Given the description of an element on the screen output the (x, y) to click on. 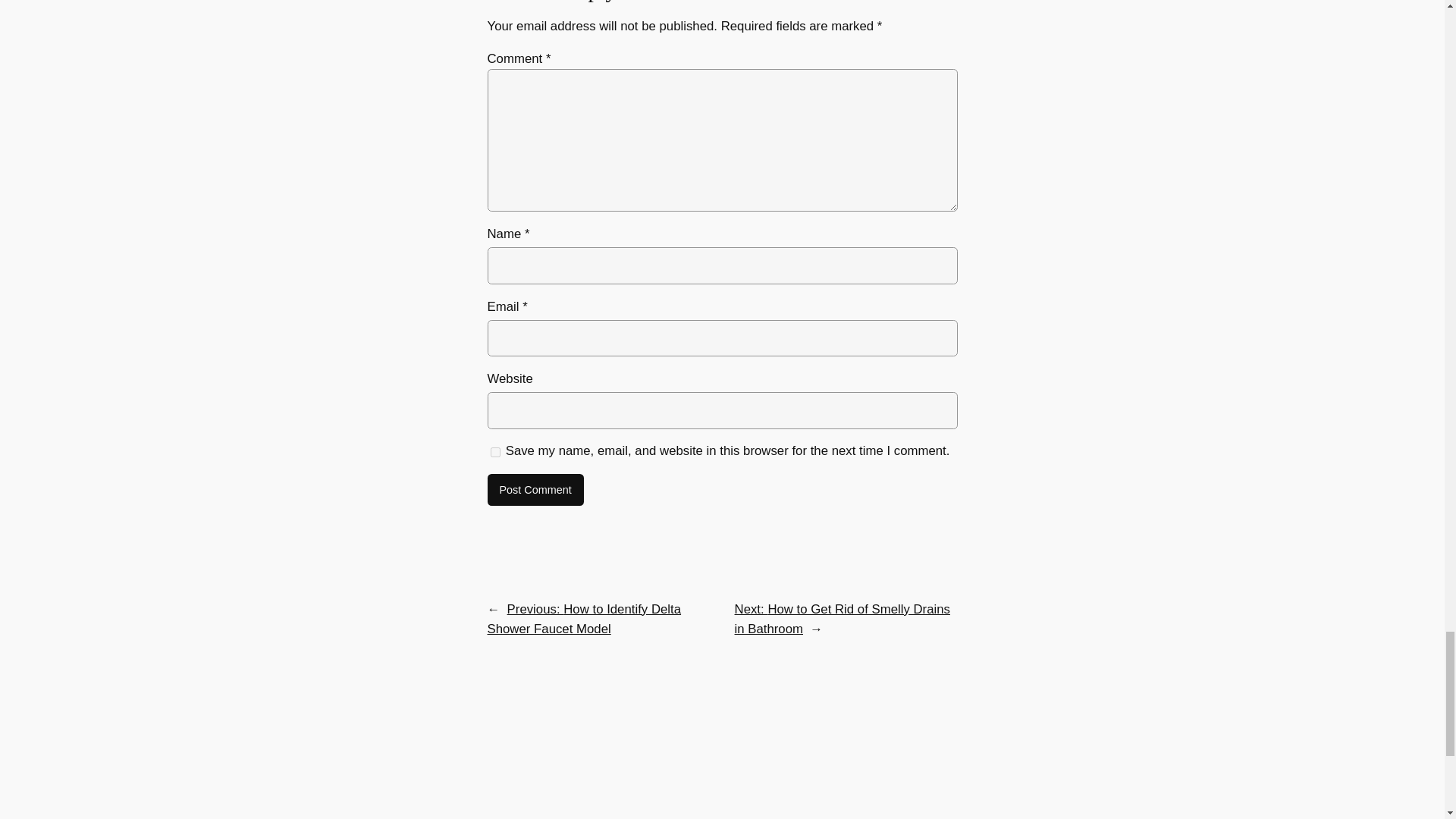
Next: How to Get Rid of Smelly Drains in Bathroom (842, 618)
Post Comment (534, 490)
Previous: How to Identify Delta Shower Faucet Model (583, 618)
Post Comment (534, 490)
